Given the description of an element on the screen output the (x, y) to click on. 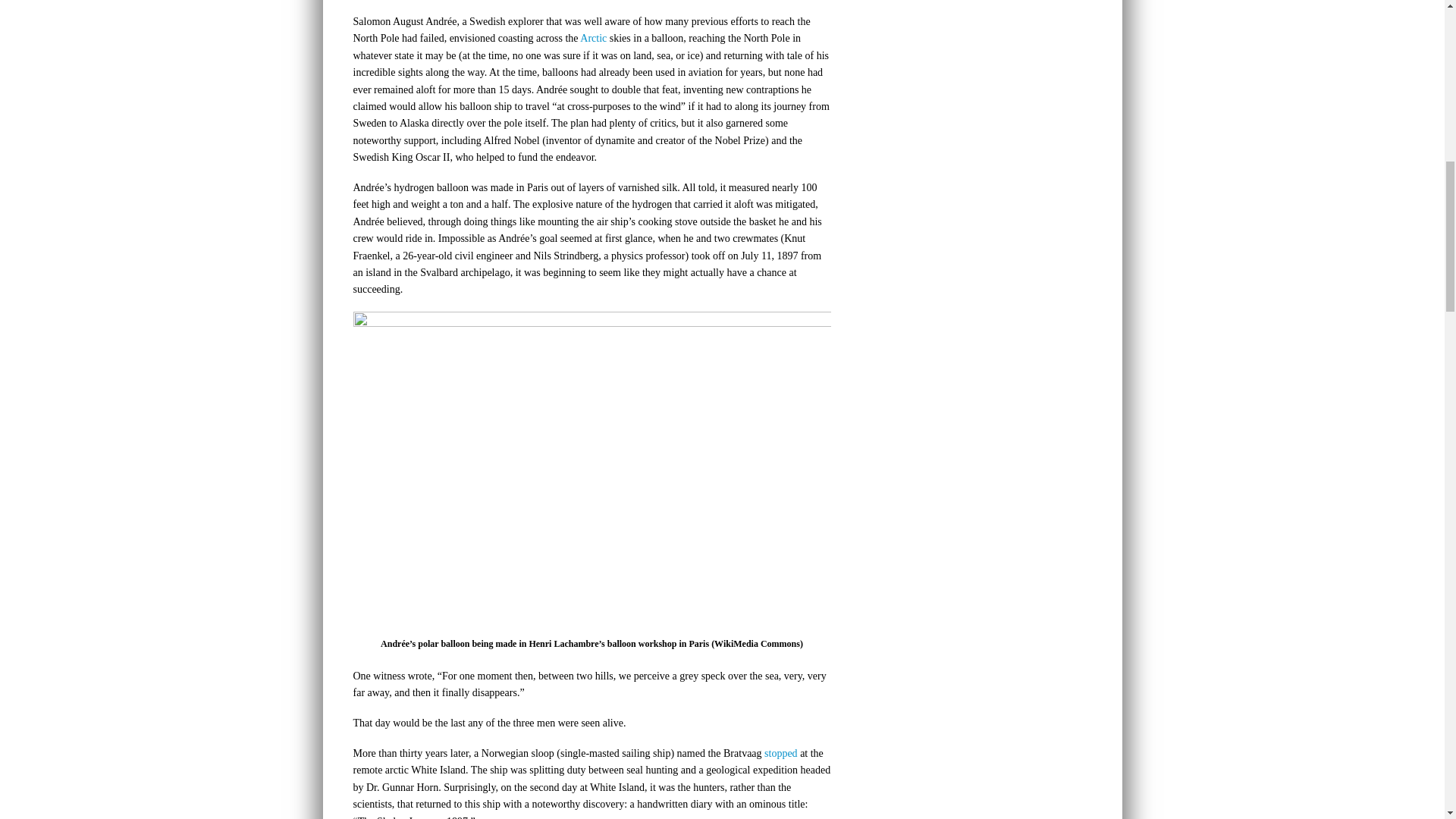
Arctic (593, 38)
stopped (780, 753)
